Given the description of an element on the screen output the (x, y) to click on. 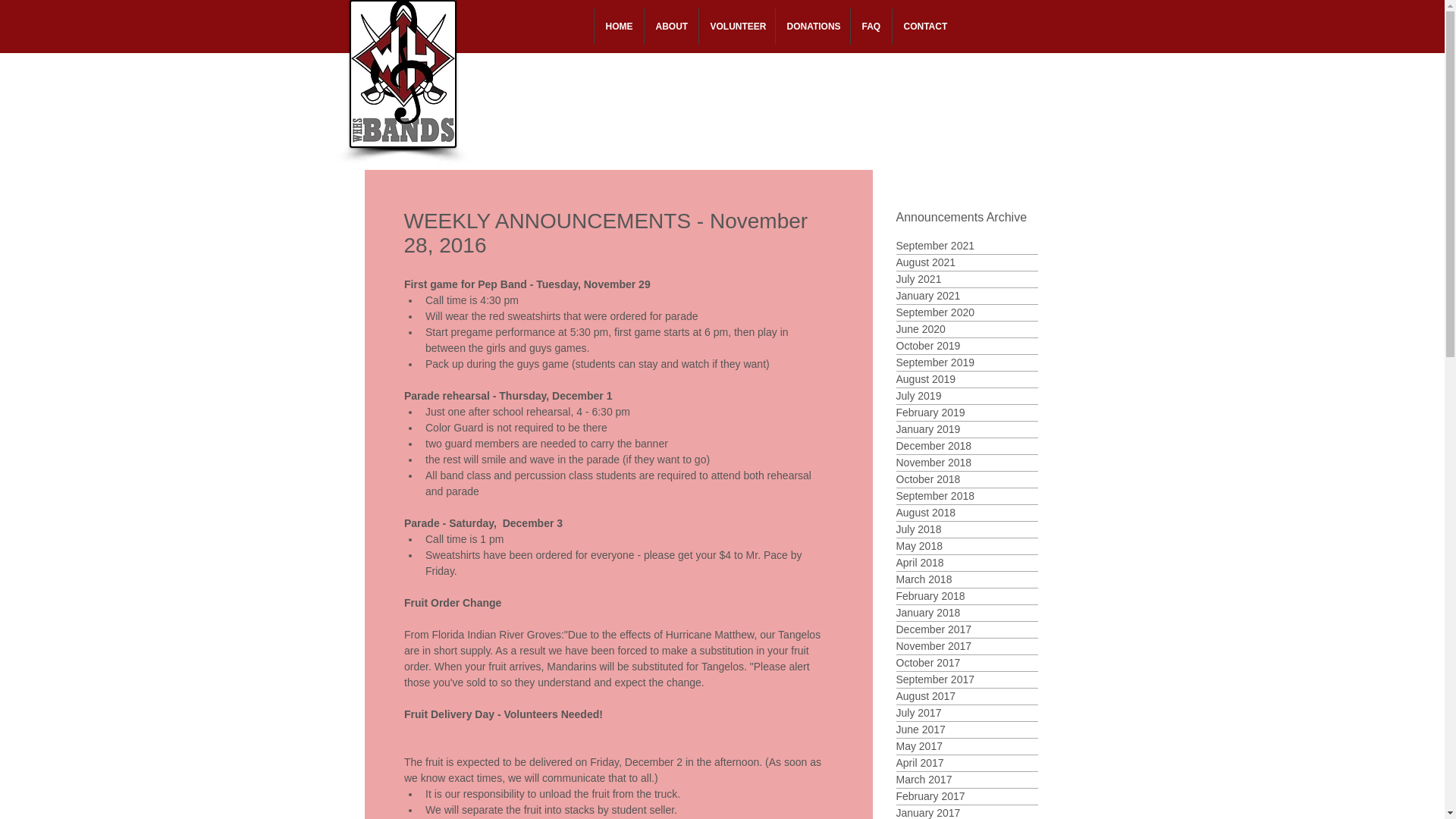
October 2019 (967, 345)
July 2018 (967, 529)
July 2019 (967, 396)
December 2017 (967, 629)
December 2018 (967, 446)
August 2021 (967, 262)
September 2019 (967, 362)
August 2019 (967, 379)
August 2018 (967, 512)
VOLUNTEER (735, 26)
